Given the description of an element on the screen output the (x, y) to click on. 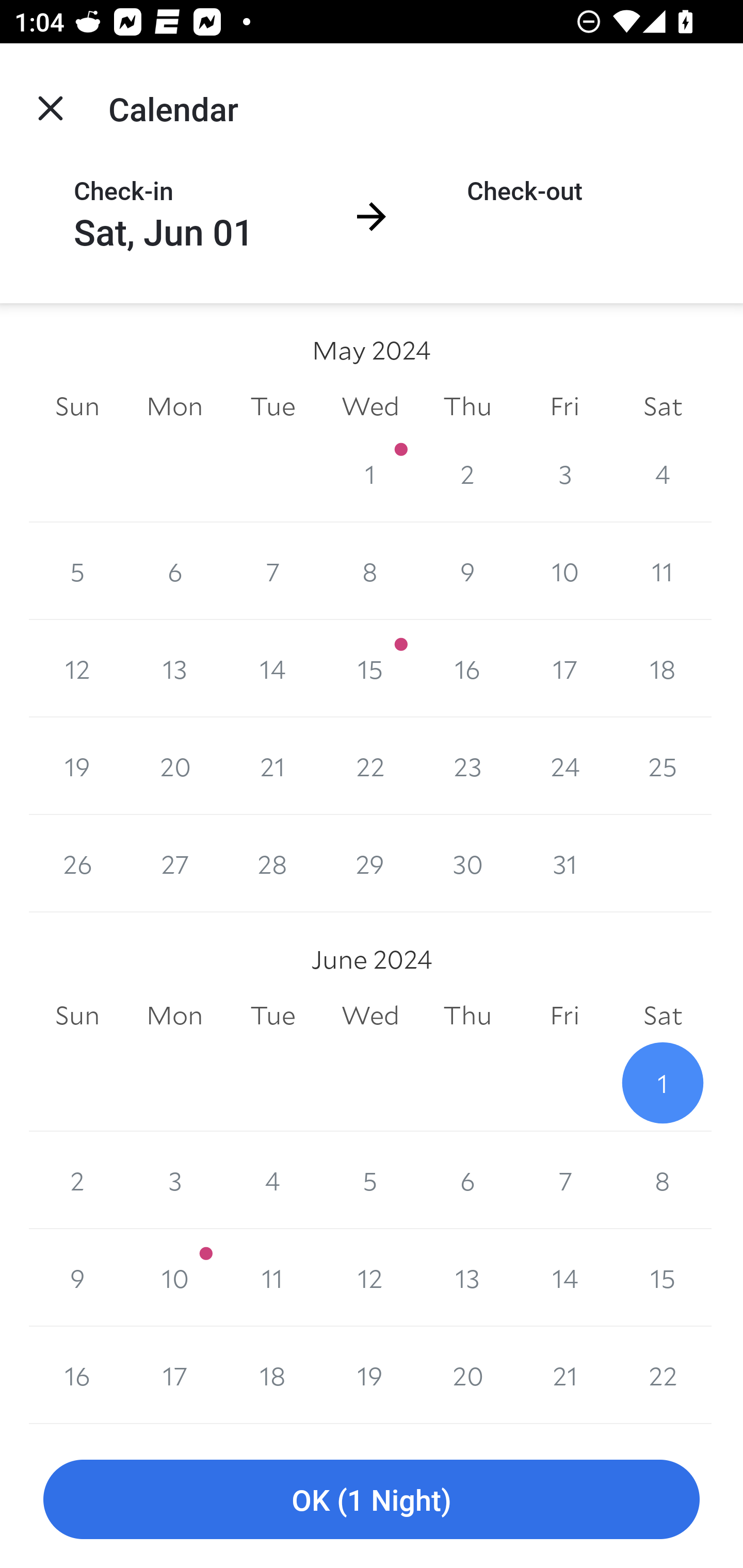
Sun (77, 405)
Mon (174, 405)
Tue (272, 405)
Wed (370, 405)
Thu (467, 405)
Fri (564, 405)
Sat (662, 405)
1 1 May 2024 (370, 473)
2 2 May 2024 (467, 473)
3 3 May 2024 (564, 473)
4 4 May 2024 (662, 473)
5 5 May 2024 (77, 570)
6 6 May 2024 (174, 570)
7 7 May 2024 (272, 570)
8 8 May 2024 (370, 570)
9 9 May 2024 (467, 570)
10 10 May 2024 (564, 570)
11 11 May 2024 (662, 570)
12 12 May 2024 (77, 668)
13 13 May 2024 (174, 668)
14 14 May 2024 (272, 668)
15 15 May 2024 (370, 668)
16 16 May 2024 (467, 668)
17 17 May 2024 (564, 668)
18 18 May 2024 (662, 668)
19 19 May 2024 (77, 766)
20 20 May 2024 (174, 766)
21 21 May 2024 (272, 766)
22 22 May 2024 (370, 766)
23 23 May 2024 (467, 766)
24 24 May 2024 (564, 766)
25 25 May 2024 (662, 766)
26 26 May 2024 (77, 863)
27 27 May 2024 (174, 863)
28 28 May 2024 (272, 863)
29 29 May 2024 (370, 863)
30 30 May 2024 (467, 863)
31 31 May 2024 (564, 863)
Sun (77, 1015)
Mon (174, 1015)
Tue (272, 1015)
Wed (370, 1015)
Thu (467, 1015)
Fri (564, 1015)
Sat (662, 1015)
1 1 June 2024 (662, 1083)
2 2 June 2024 (77, 1180)
3 3 June 2024 (174, 1180)
4 4 June 2024 (272, 1180)
5 5 June 2024 (370, 1180)
6 6 June 2024 (467, 1180)
7 7 June 2024 (564, 1180)
8 8 June 2024 (662, 1180)
9 9 June 2024 (77, 1277)
10 10 June 2024 (174, 1277)
11 11 June 2024 (272, 1277)
12 12 June 2024 (370, 1277)
13 13 June 2024 (467, 1277)
14 14 June 2024 (564, 1277)
15 15 June 2024 (662, 1277)
16 16 June 2024 (77, 1374)
17 17 June 2024 (174, 1374)
18 18 June 2024 (272, 1374)
19 19 June 2024 (370, 1374)
20 20 June 2024 (467, 1374)
21 21 June 2024 (564, 1374)
22 22 June 2024 (662, 1374)
OK (1 Night) (371, 1499)
